Given the description of an element on the screen output the (x, y) to click on. 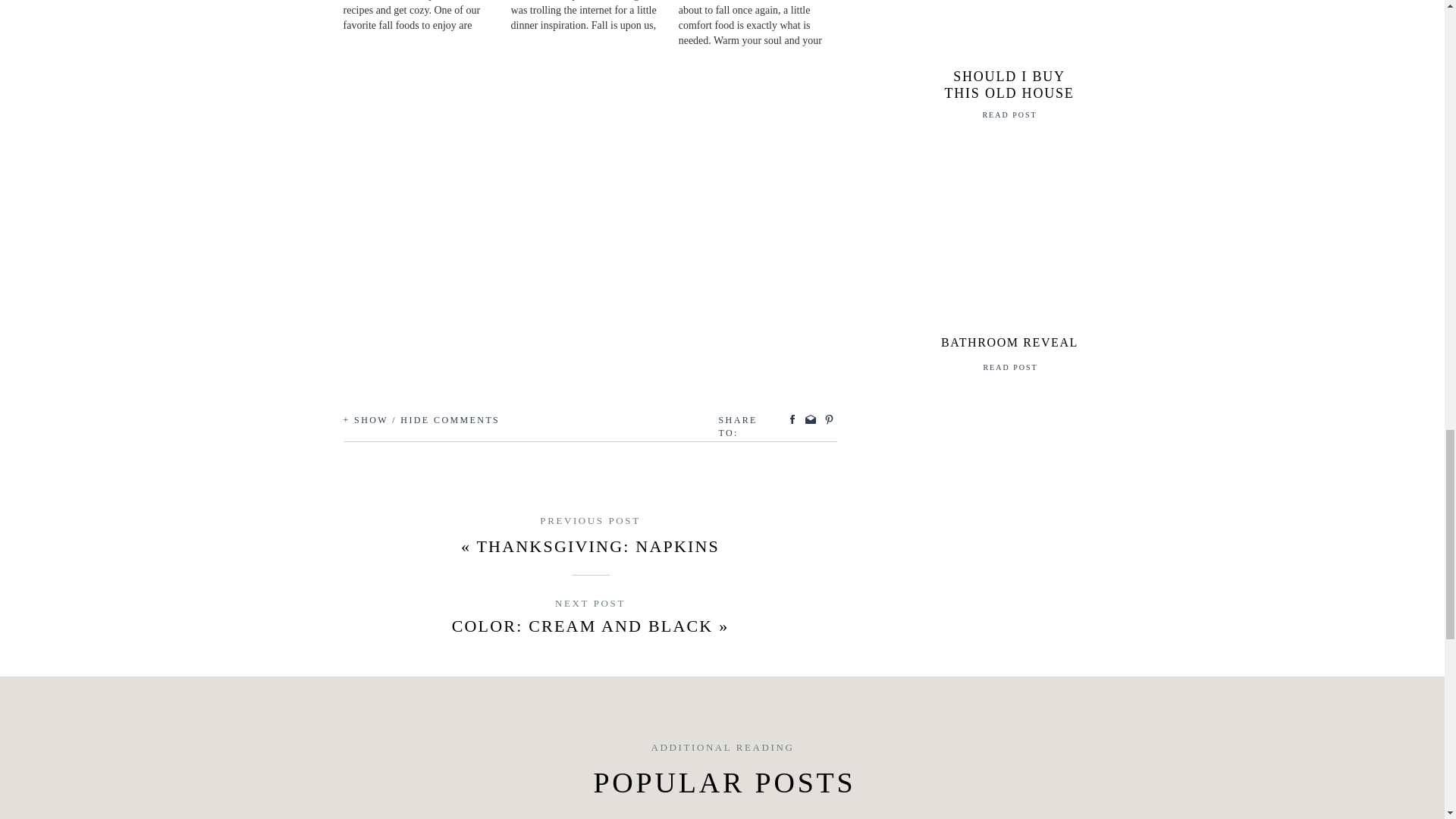
Winter Sensation: Pumpkin Gnocchi (761, 24)
Fall Recipe: Pumpkin Muffins (426, 16)
Food We Eat: Pumpkin Pasta (594, 16)
